Given the description of an element on the screen output the (x, y) to click on. 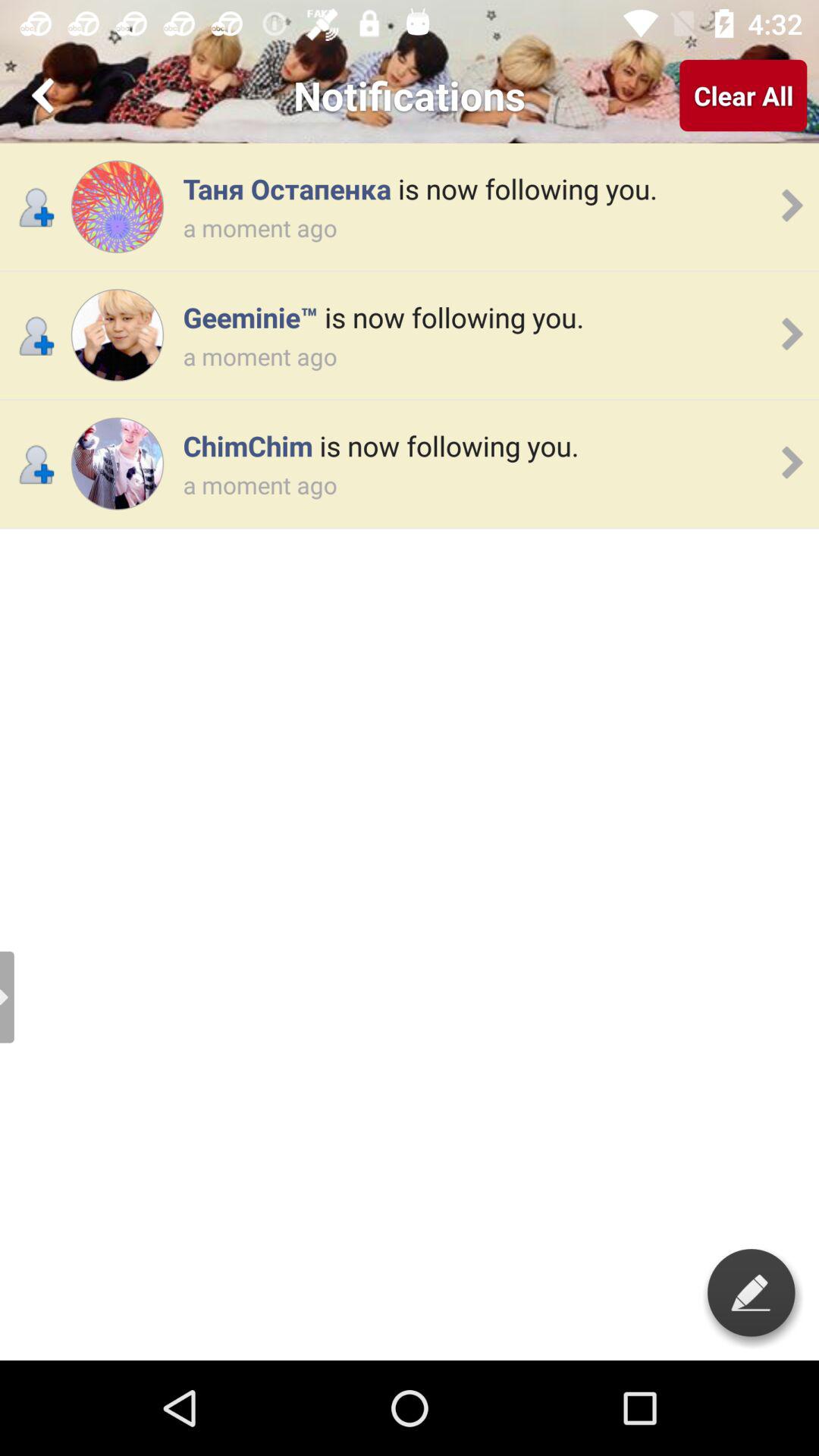
go back (45, 95)
